Given the description of an element on the screen output the (x, y) to click on. 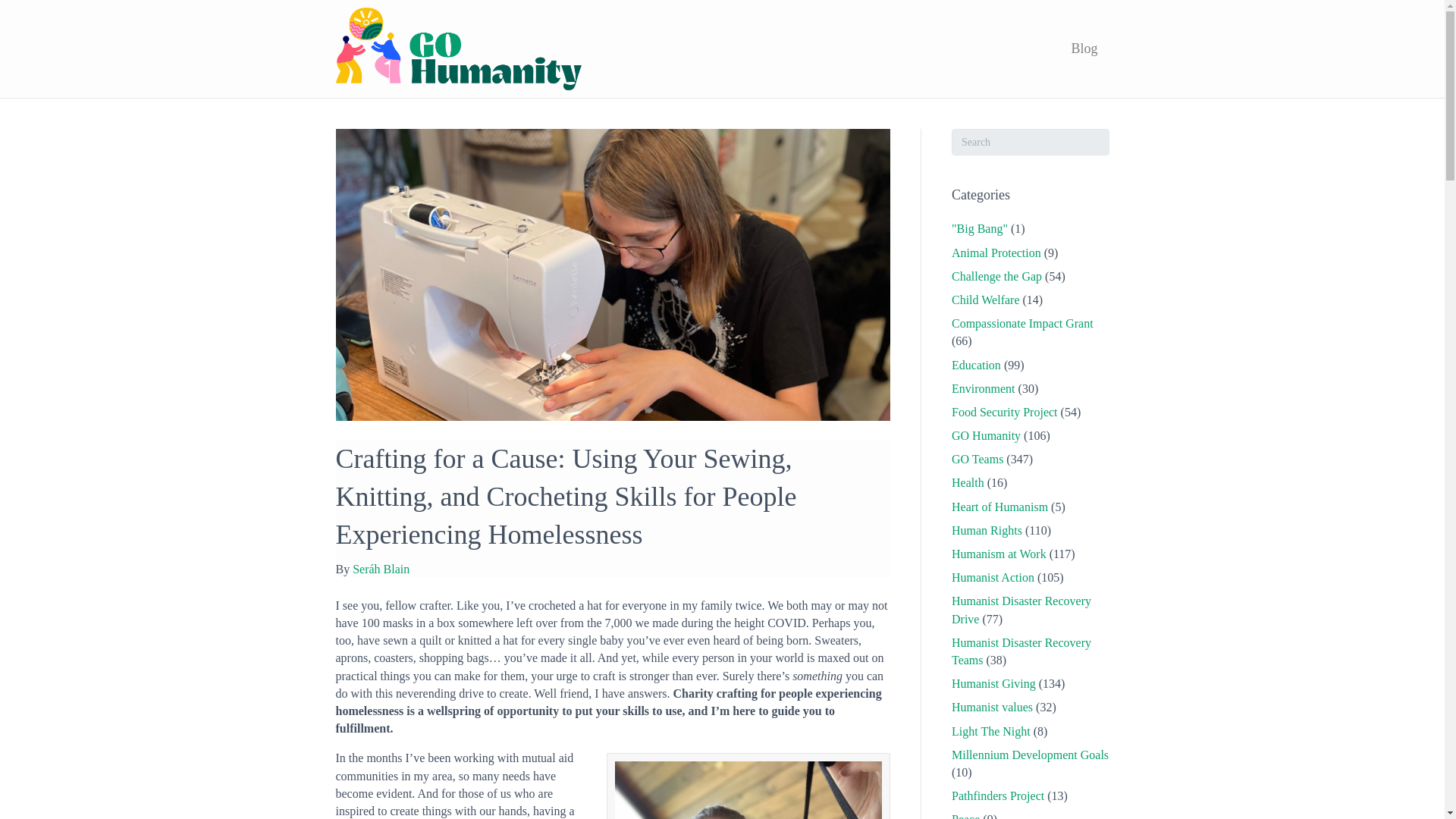
Type and press Enter to search. (1030, 141)
Blog (1083, 48)
